Given the description of an element on the screen output the (x, y) to click on. 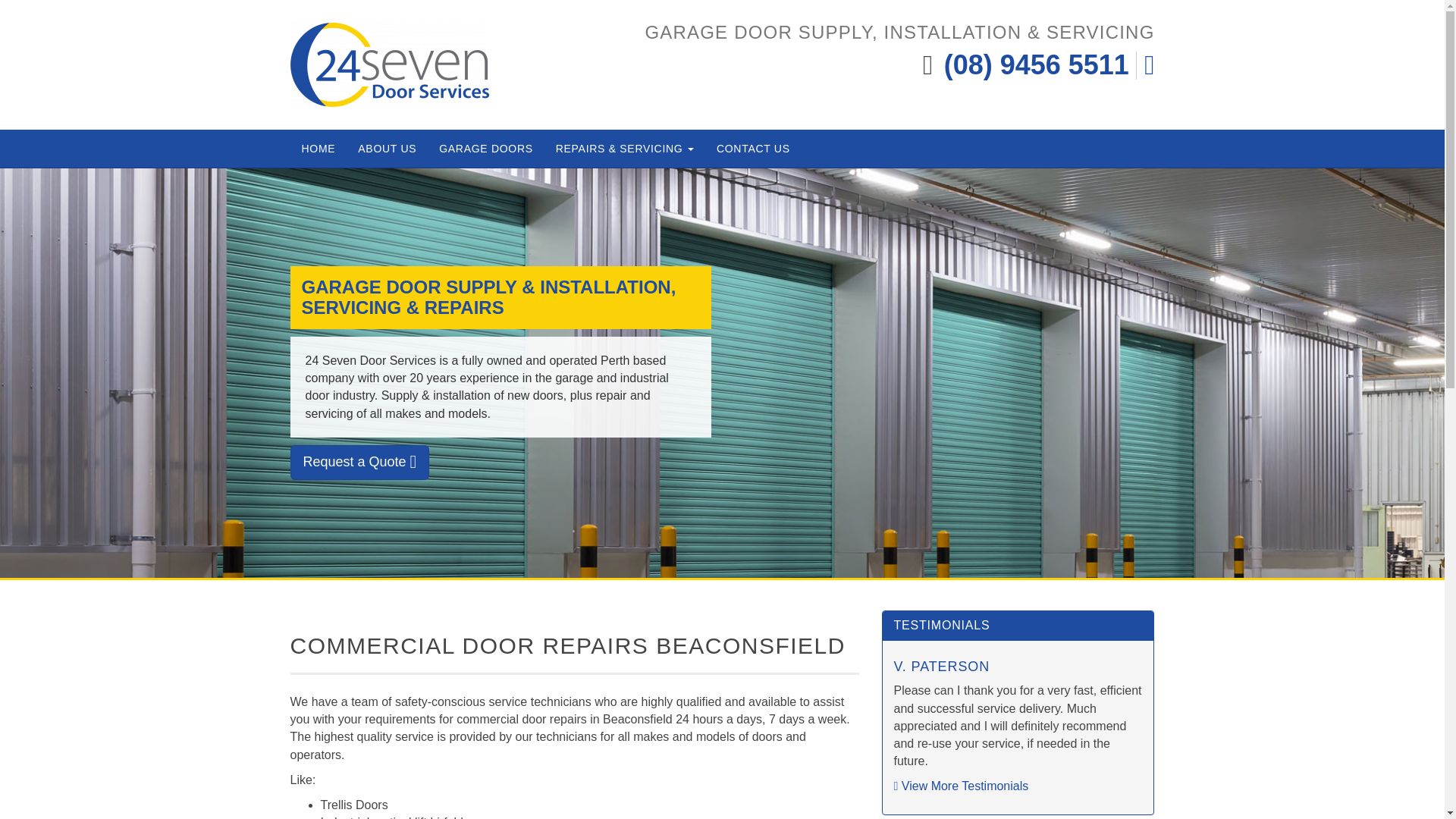
ABOUT US (387, 148)
CONTACT US (753, 148)
V. PATERSON (941, 666)
Garage Doors (486, 148)
Home (317, 148)
24 Seven Door Services Logo (389, 64)
GARAGE DOORS (486, 148)
About Us (387, 148)
View More Testimonials (960, 785)
Contact Us (753, 148)
